Given the description of an element on the screen output the (x, y) to click on. 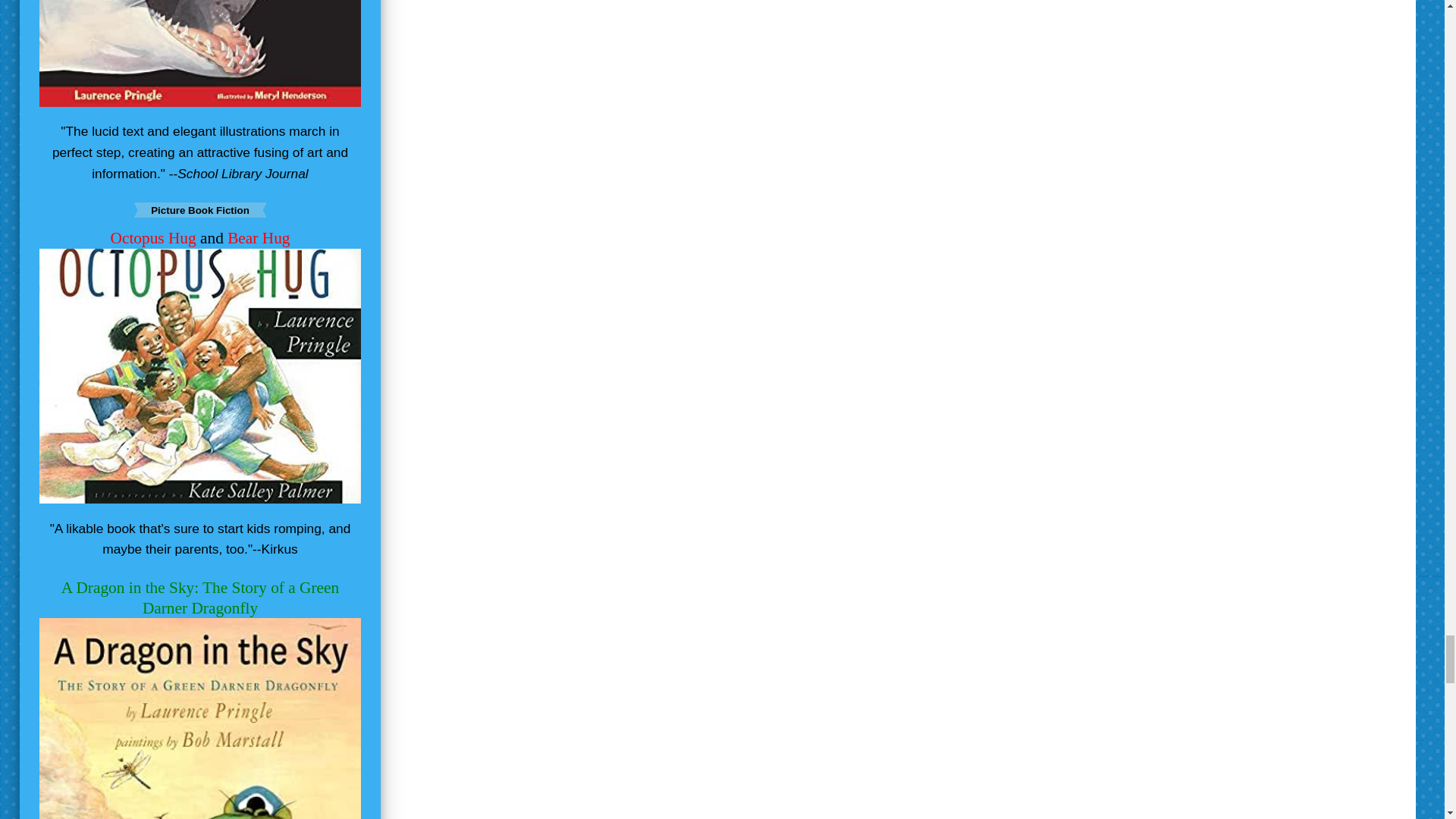
Octopus Hug and Bear Hug (199, 238)
A Dragon in the Sky: The Story of a Green Darner Dragonfly (200, 597)
